Given the description of an element on the screen output the (x, y) to click on. 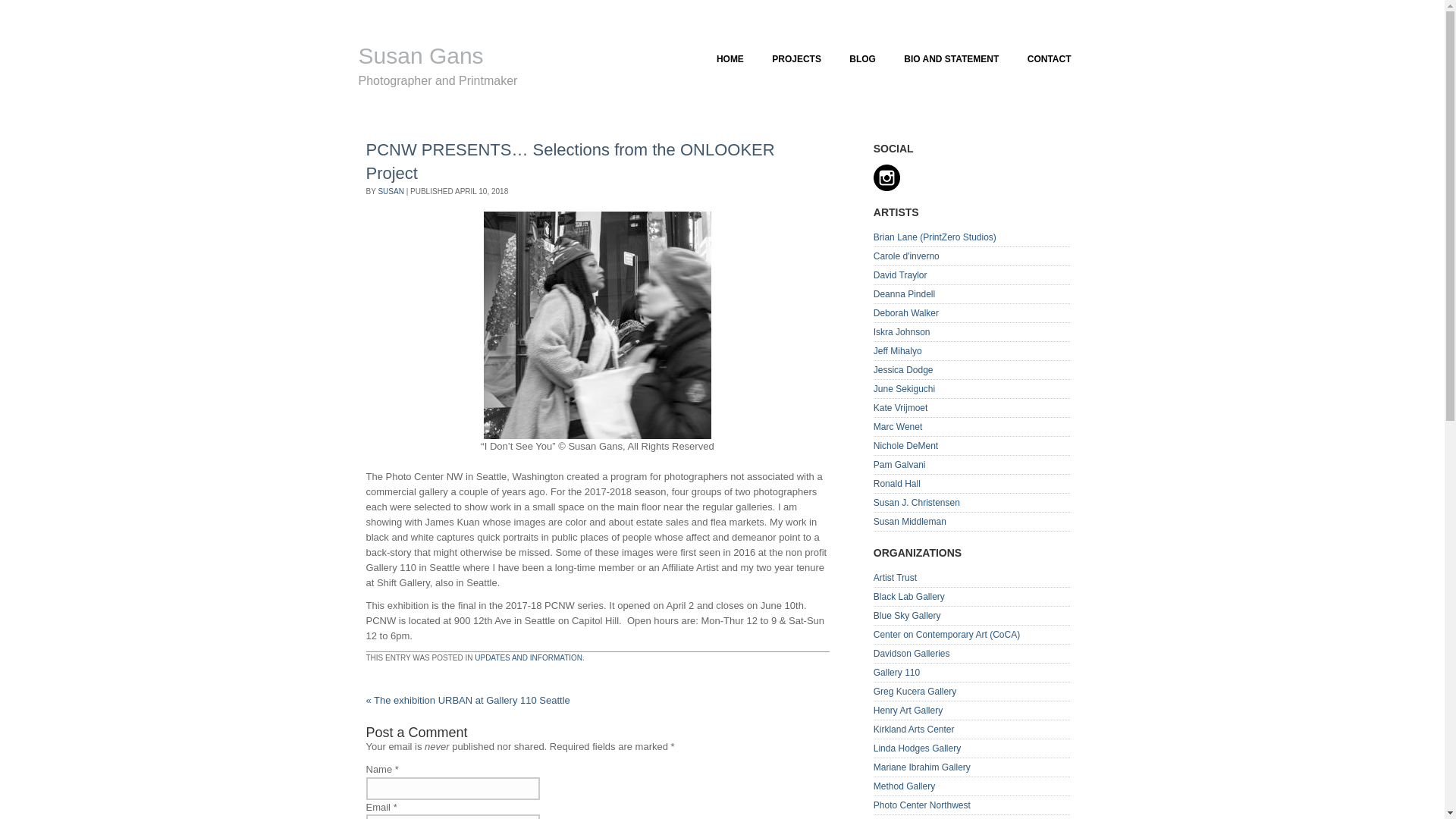
Marc Wenet (897, 426)
Jeff Mihalyo (897, 350)
Susan J. Christensen (916, 502)
Carole d'inverno (906, 255)
CONTACT (1049, 58)
Kate Vrijmoet (900, 407)
June Sekiguchi (903, 388)
Deborah Walker (906, 312)
BLOG (861, 58)
Iskra Johnson (901, 331)
